Given the description of an element on the screen output the (x, y) to click on. 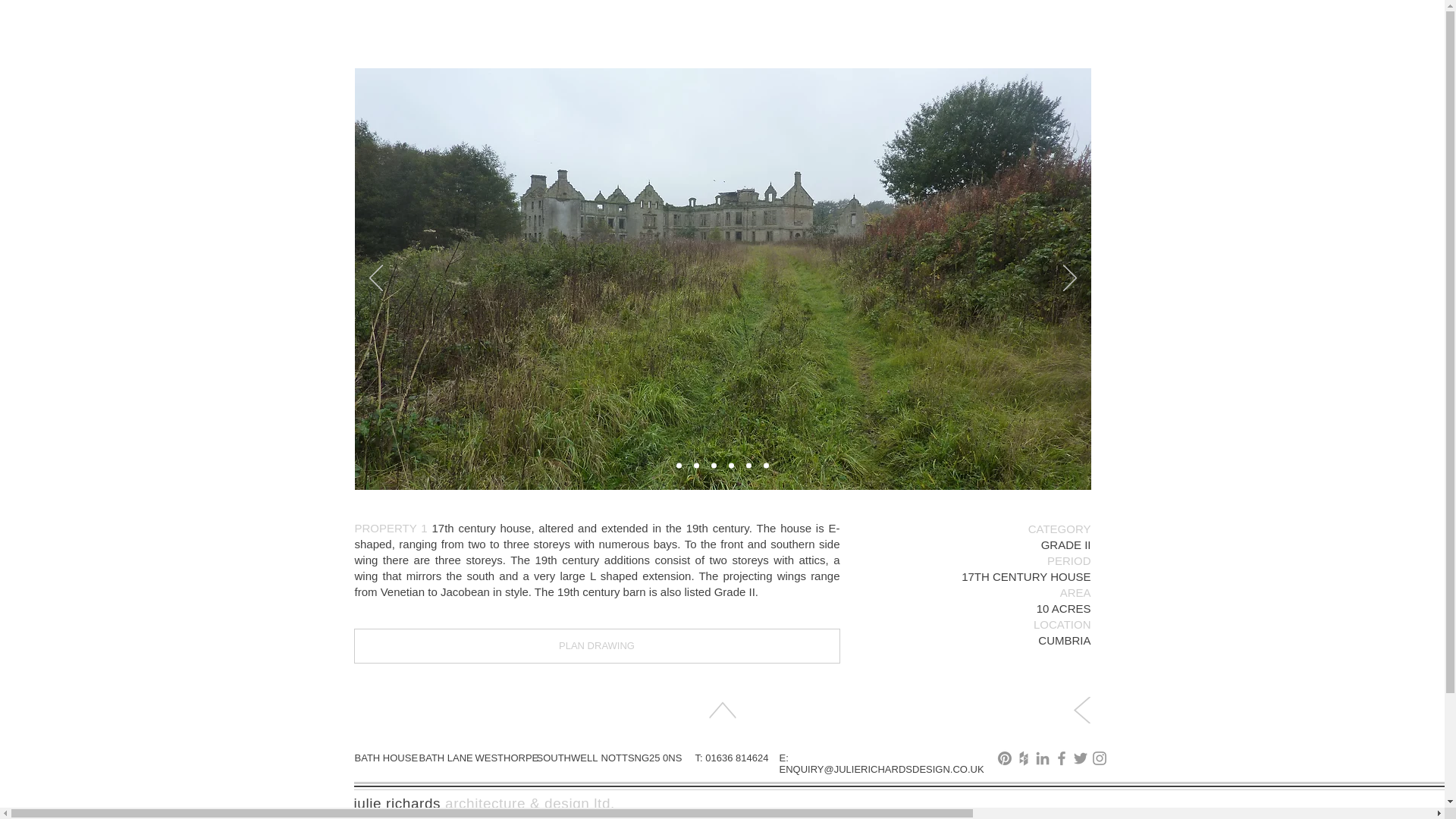
NOTTS (616, 757)
PLAN DRAWING (596, 645)
WESTHORPE (506, 757)
BATH HOUSE (387, 757)
T: 01636 814624 (731, 757)
SOUTHWELL (567, 757)
BATH LANE (445, 757)
NG25 0NS (657, 757)
